Given the description of an element on the screen output the (x, y) to click on. 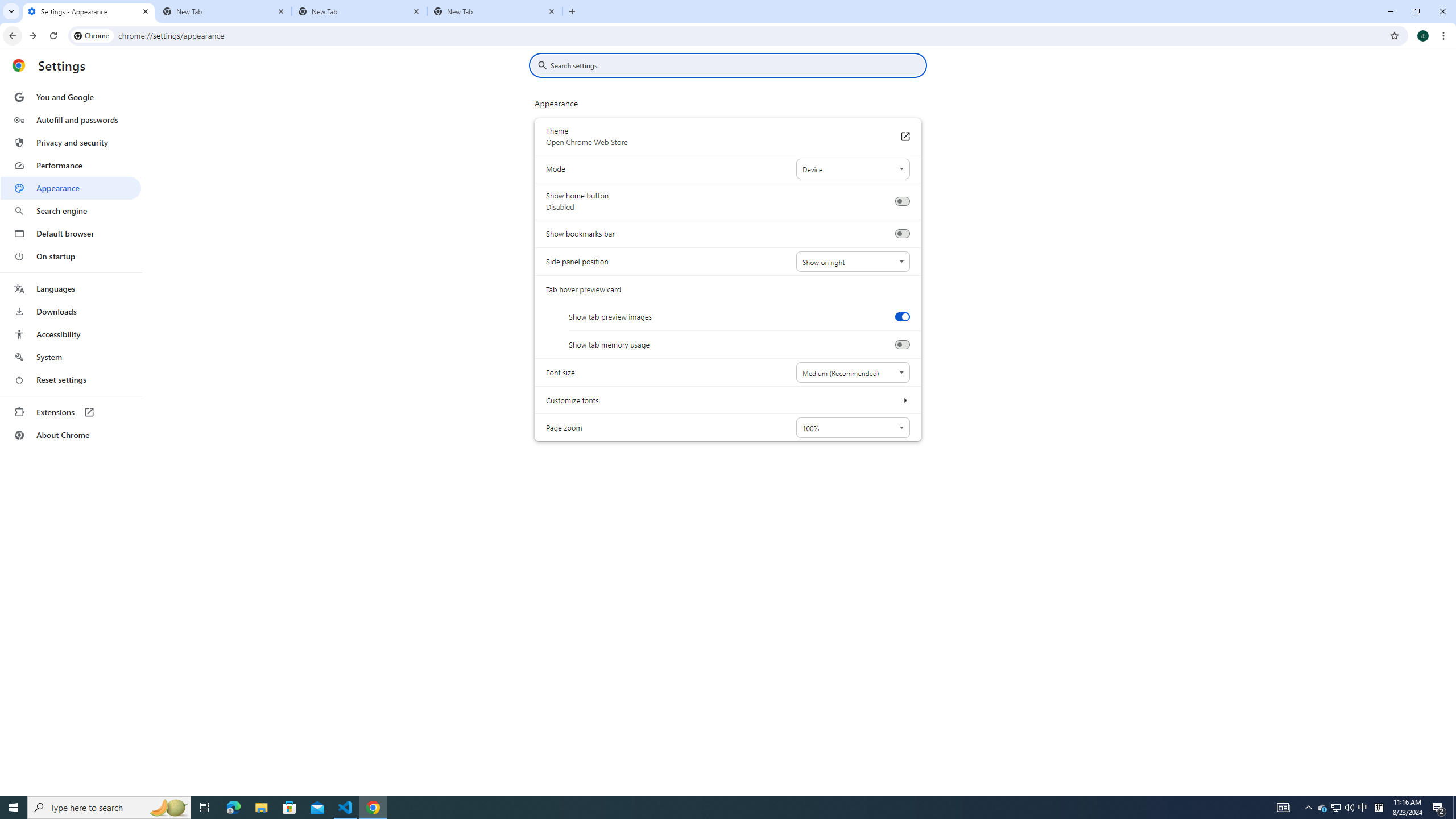
AutomationID: menu (71, 265)
Settings - Appearance (88, 11)
Extensions (70, 412)
Default browser (70, 233)
Show bookmarks bar (901, 234)
Show home button (901, 201)
Side panel position (852, 261)
New Tab (359, 11)
Reset settings (70, 379)
Appearance (70, 187)
New Tab (494, 11)
Show tab preview images (901, 316)
